Given the description of an element on the screen output the (x, y) to click on. 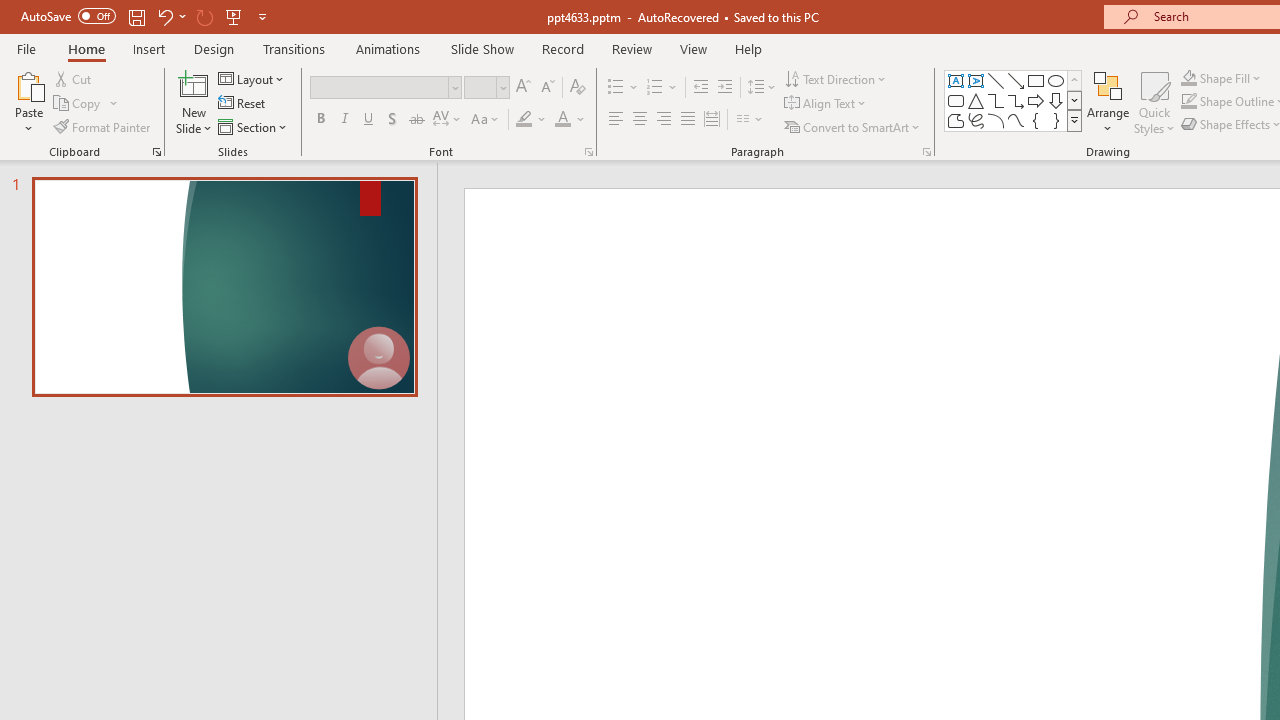
Underline (369, 119)
Reset (243, 103)
Shapes (1074, 120)
Line Arrow (1016, 80)
Distributed (712, 119)
Align Text (826, 103)
Rectangle: Rounded Corners (955, 100)
